Given the description of an element on the screen output the (x, y) to click on. 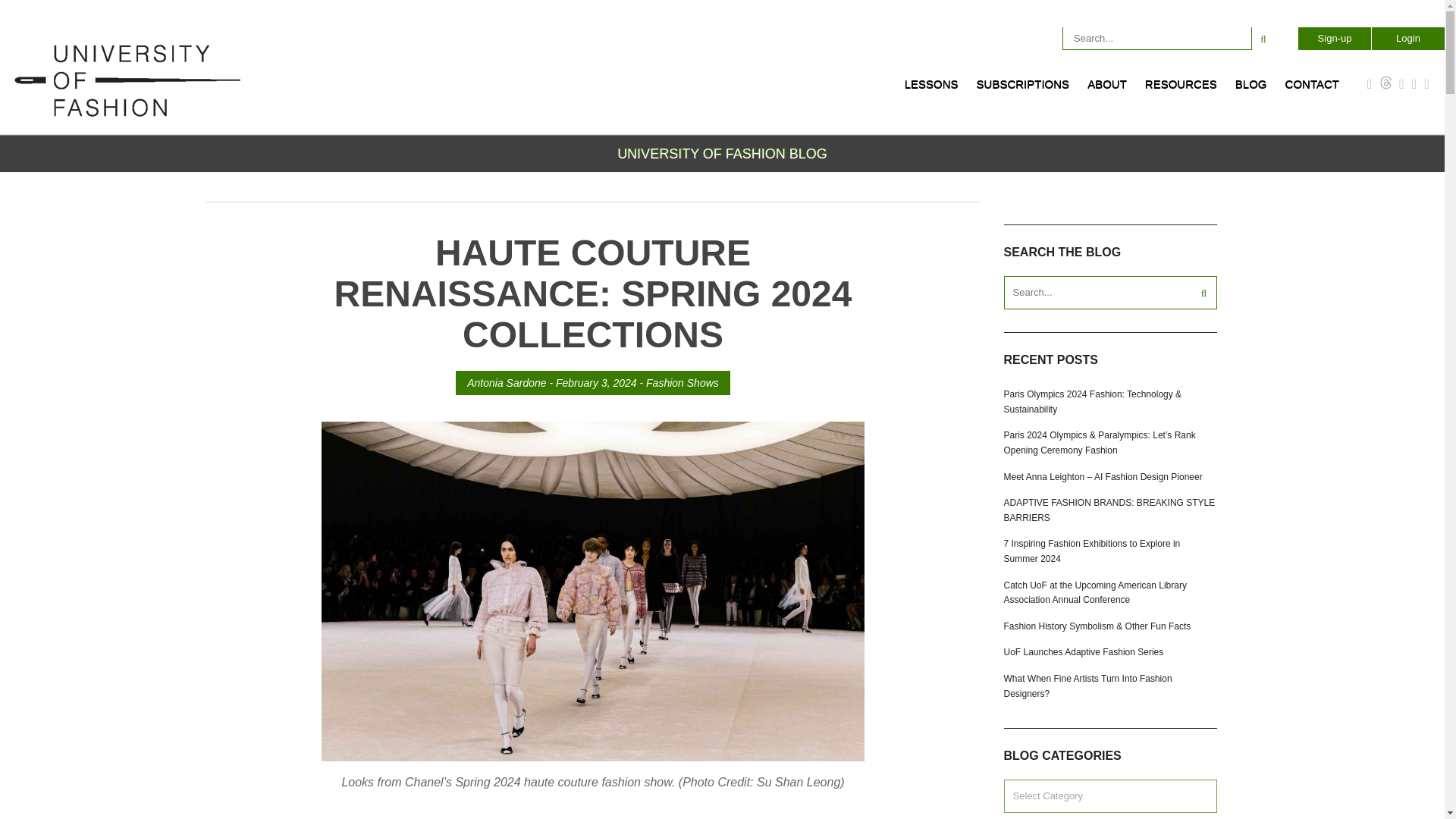
SUBSCRIPTIONS (1023, 89)
Search for: (1110, 292)
LESSONS (931, 89)
ABOUT (1106, 89)
University of Fashion Blog (127, 113)
Search for: (1157, 38)
RESOURCES (1180, 89)
Sign-up (1334, 38)
Login (1407, 38)
Posts by Antonia Sardone (506, 382)
